Given the description of an element on the screen output the (x, y) to click on. 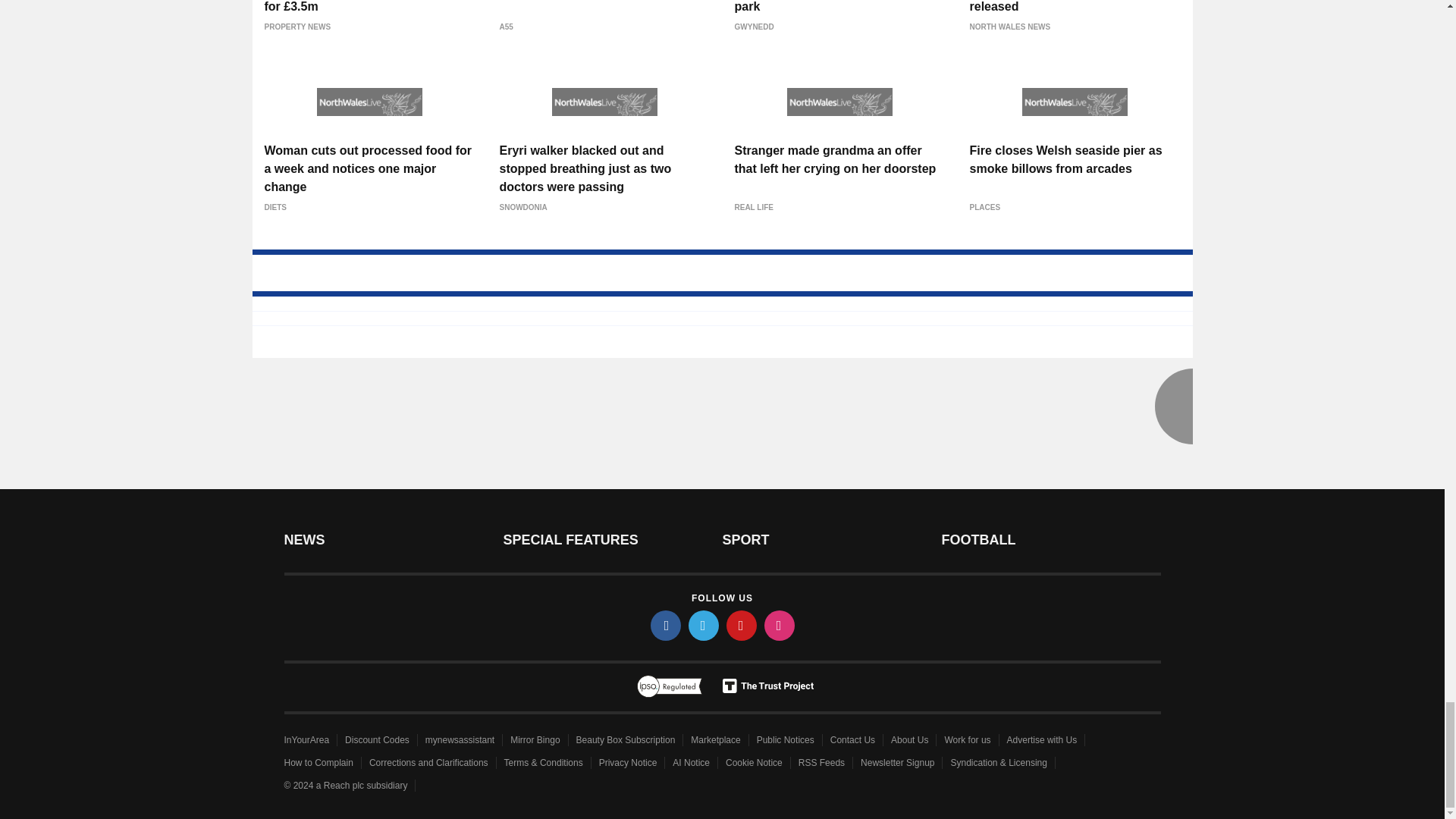
twitter (703, 625)
pinterest (741, 625)
instagram (779, 625)
facebook (665, 625)
